Given the description of an element on the screen output the (x, y) to click on. 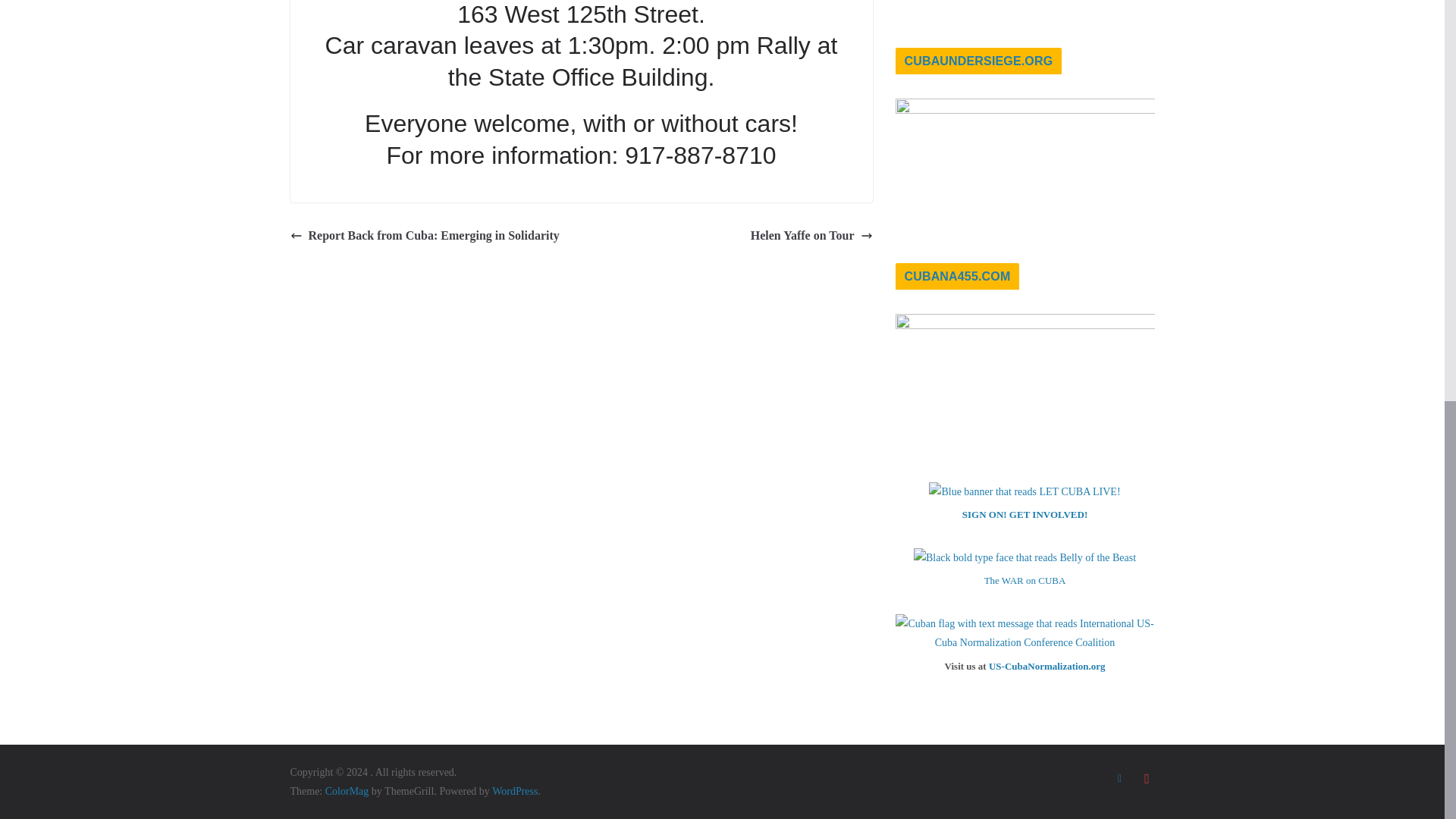
CUBANA455.COM (957, 276)
SIGN ON! GET INVOLVED! (1024, 514)
ColorMag (346, 790)
CUBAUNDERSIEGE.ORG (978, 60)
US-CubaNormalization.org (1046, 665)
ColorMag (346, 790)
Dare to Dream: Cuba's Latin American Medical School (1024, 11)
Report Back from Cuba: Emerging in Solidarity (424, 236)
WordPress (514, 790)
Helen Yaffe on Tour (811, 236)
WordPress (514, 790)
The WAR on CUBA (1024, 580)
